Given the description of an element on the screen output the (x, y) to click on. 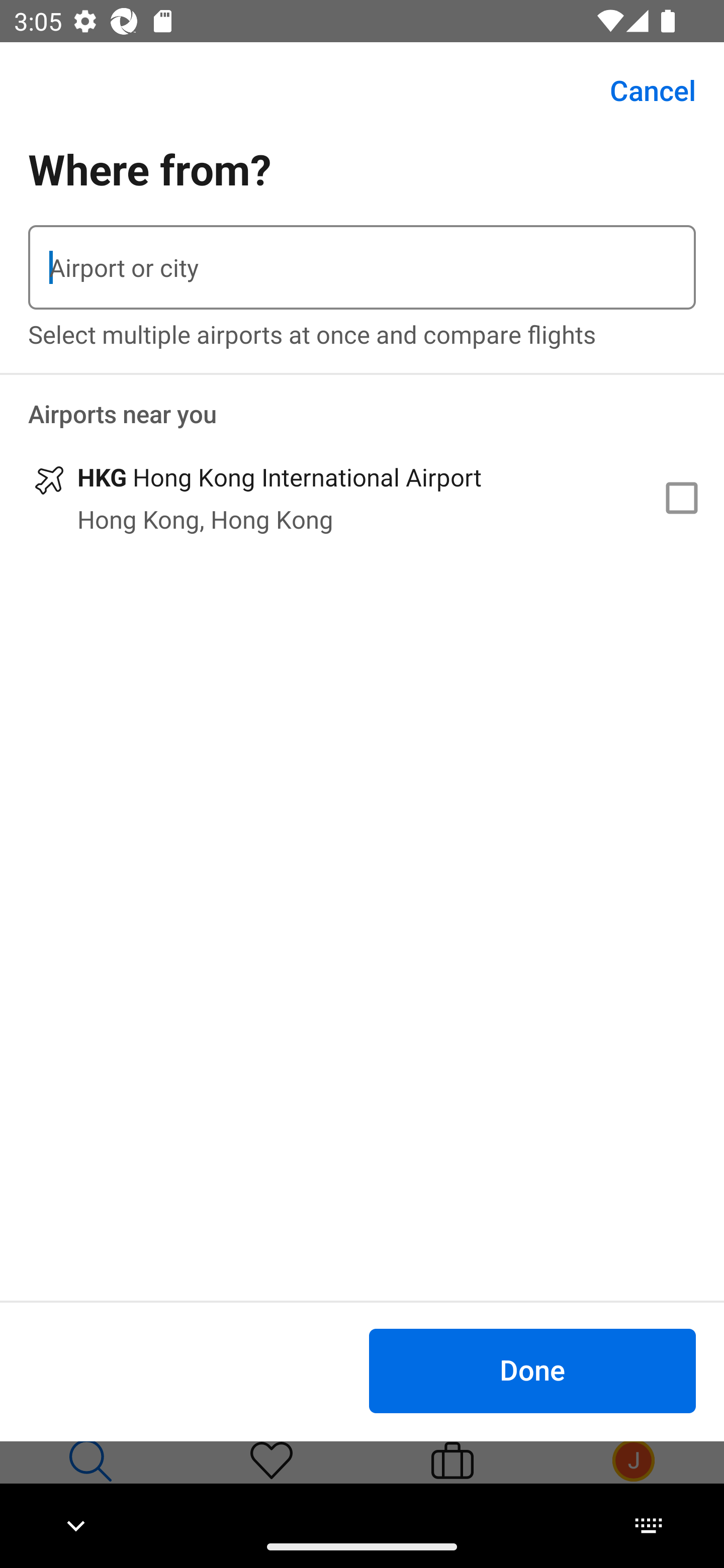
Cancel (641, 90)
Airport or city (361, 266)
Done (532, 1370)
